Given the description of an element on the screen output the (x, y) to click on. 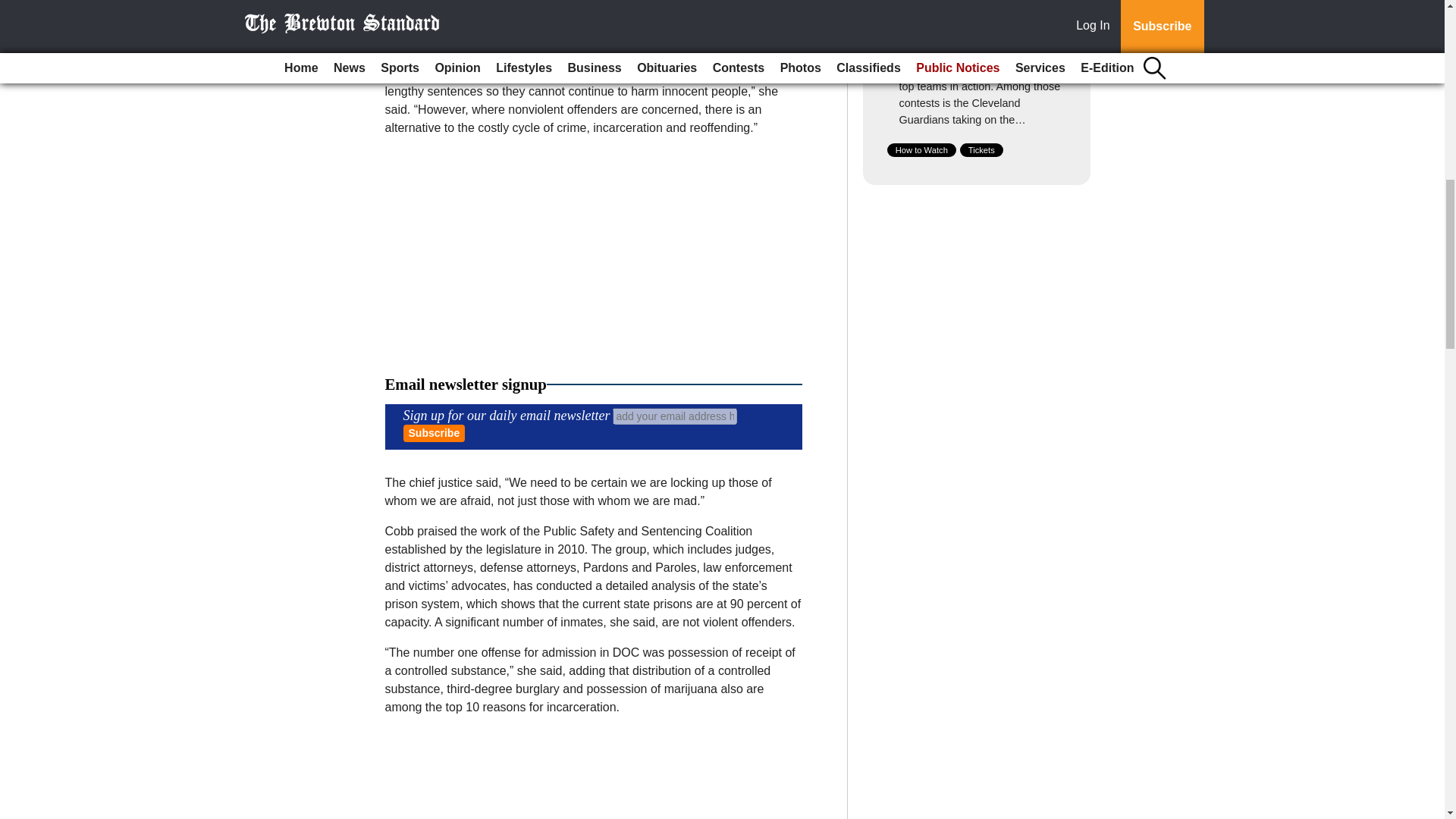
Subscribe (434, 433)
Subscribe (434, 433)
